Given the description of an element on the screen output the (x, y) to click on. 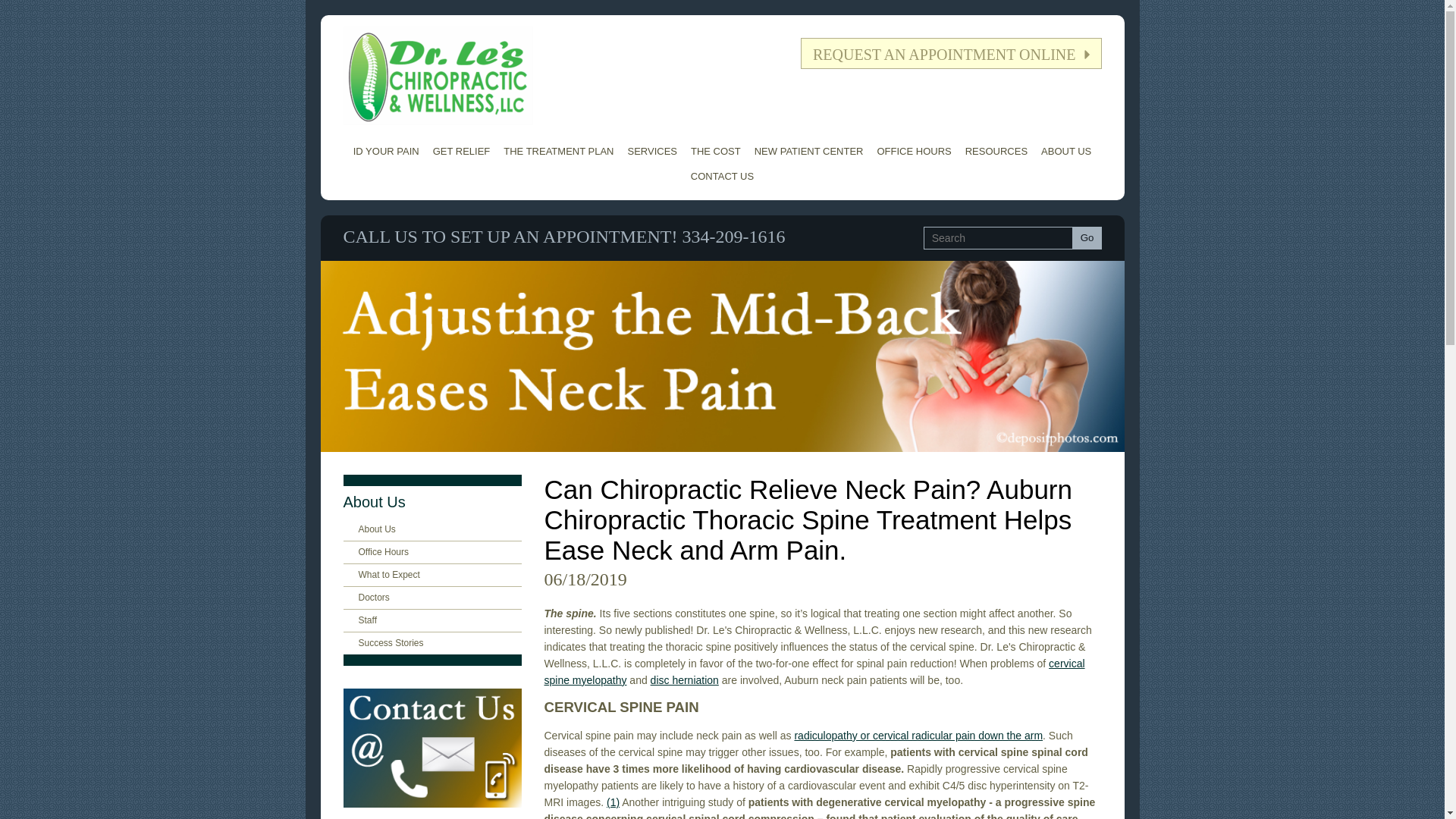
THE COST (716, 150)
Go (1087, 237)
SERVICES (652, 150)
REQUEST AN APPOINTMENT ONLINE (951, 52)
ID YOUR PAIN (386, 150)
contact-us-colors.jpg (431, 747)
THE TREATMENT PLAN (558, 150)
NEW PATIENT CENTER (809, 150)
GET RELIEF (461, 150)
